Given the description of an element on the screen output the (x, y) to click on. 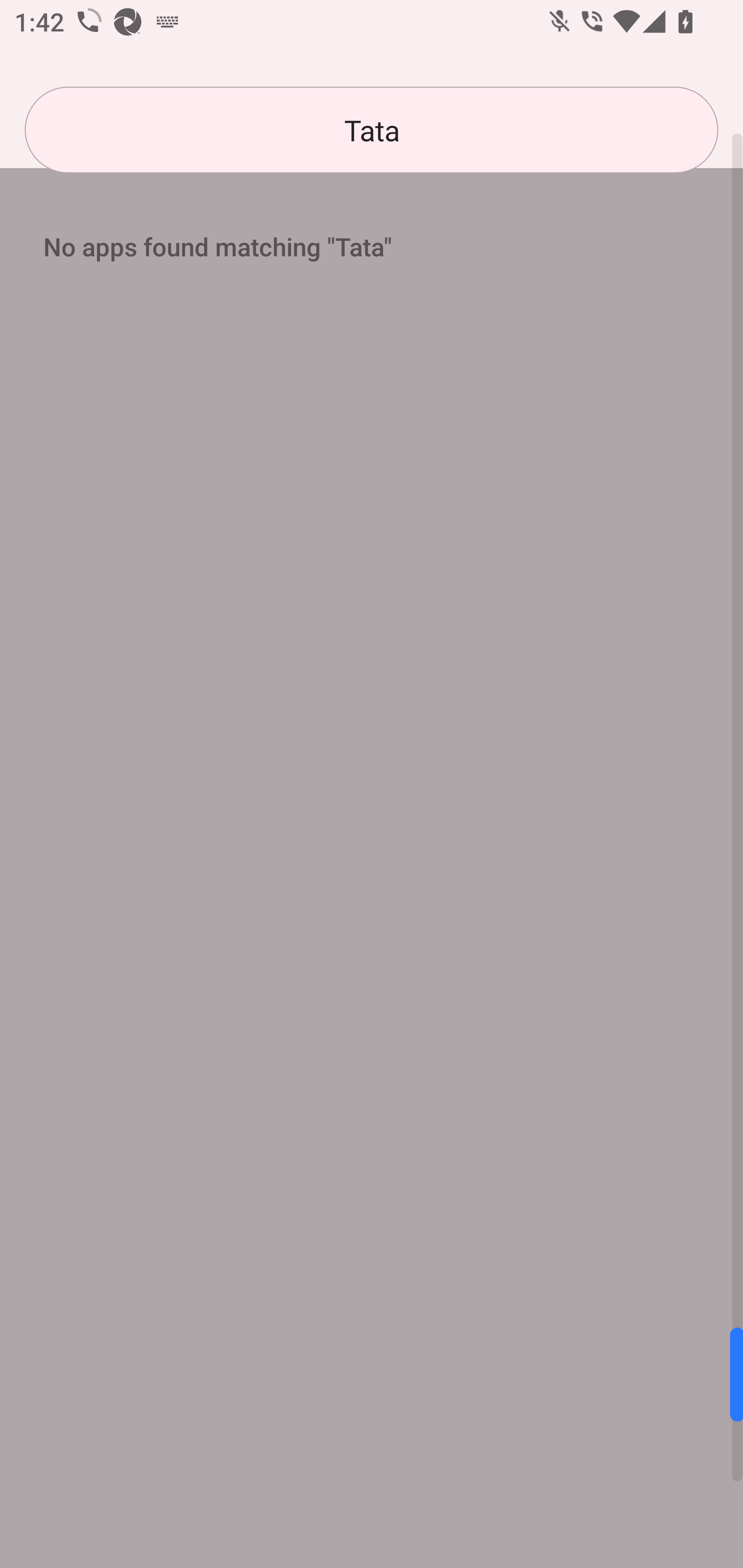
Tata (371, 130)
